Given the description of an element on the screen output the (x, y) to click on. 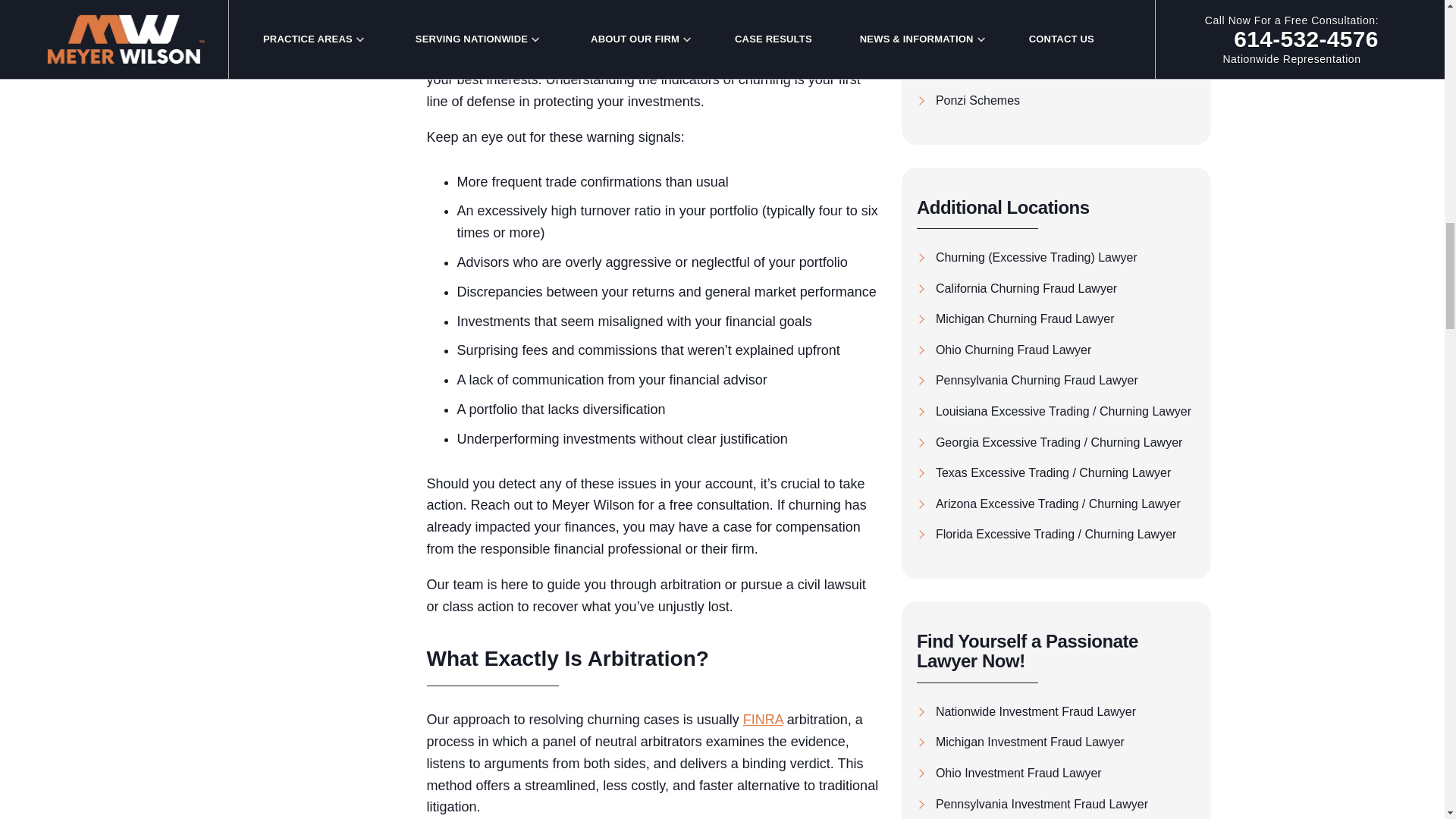
FINRA Arbitration (1056, 39)
Ponzi Schemes (1056, 100)
Investment Loss Recovery (1056, 70)
